Given the description of an element on the screen output the (x, y) to click on. 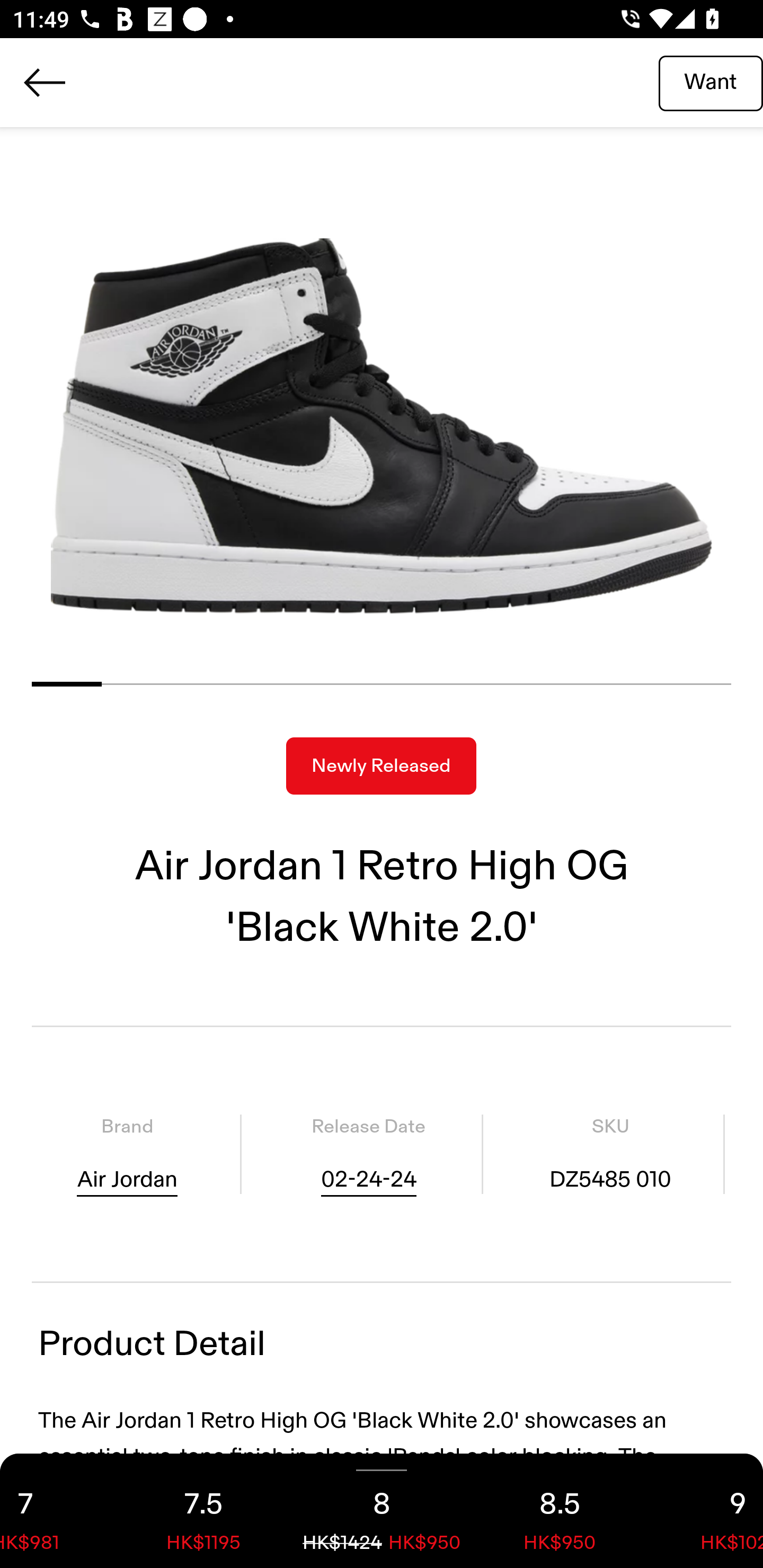
Want (710, 82)
Newly Released (381, 765)
Brand Air Jordan (126, 1153)
Release Date 02-24-24 (368, 1153)
SKU DZ5485 010 (609, 1153)
7 HK$981 (57, 1510)
7.5 HK$1195 (203, 1510)
8 HK$1424 HK$950 (381, 1510)
8.5 HK$950 (559, 1510)
9 HK$1021 (705, 1510)
